Given the description of an element on the screen output the (x, y) to click on. 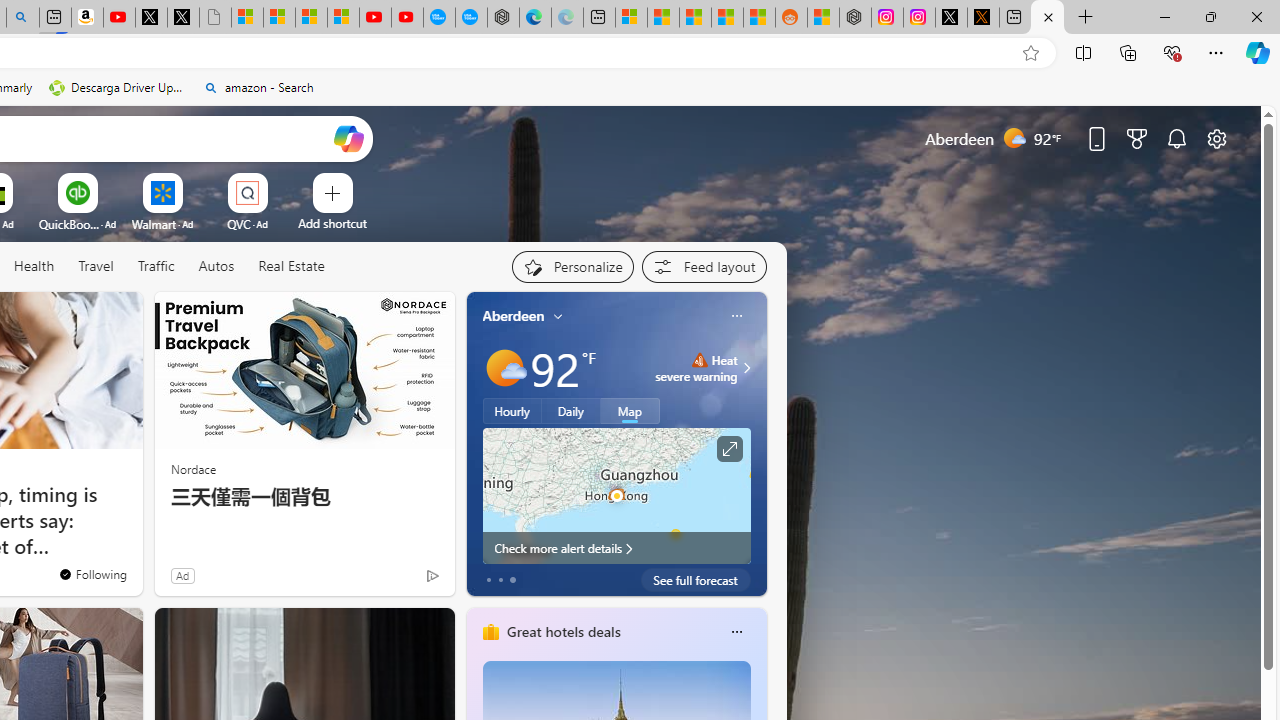
Mostly sunny (504, 368)
Larger map  (616, 495)
Log in to X / X (950, 17)
Page settings (1216, 138)
Traffic (155, 267)
Heat - Severe Heat severe warning (696, 367)
Autos (215, 265)
tab-1 (500, 579)
YouTube Kids - An App Created for Kids to Explore Content (407, 17)
Autos (216, 267)
